Given the description of an element on the screen output the (x, y) to click on. 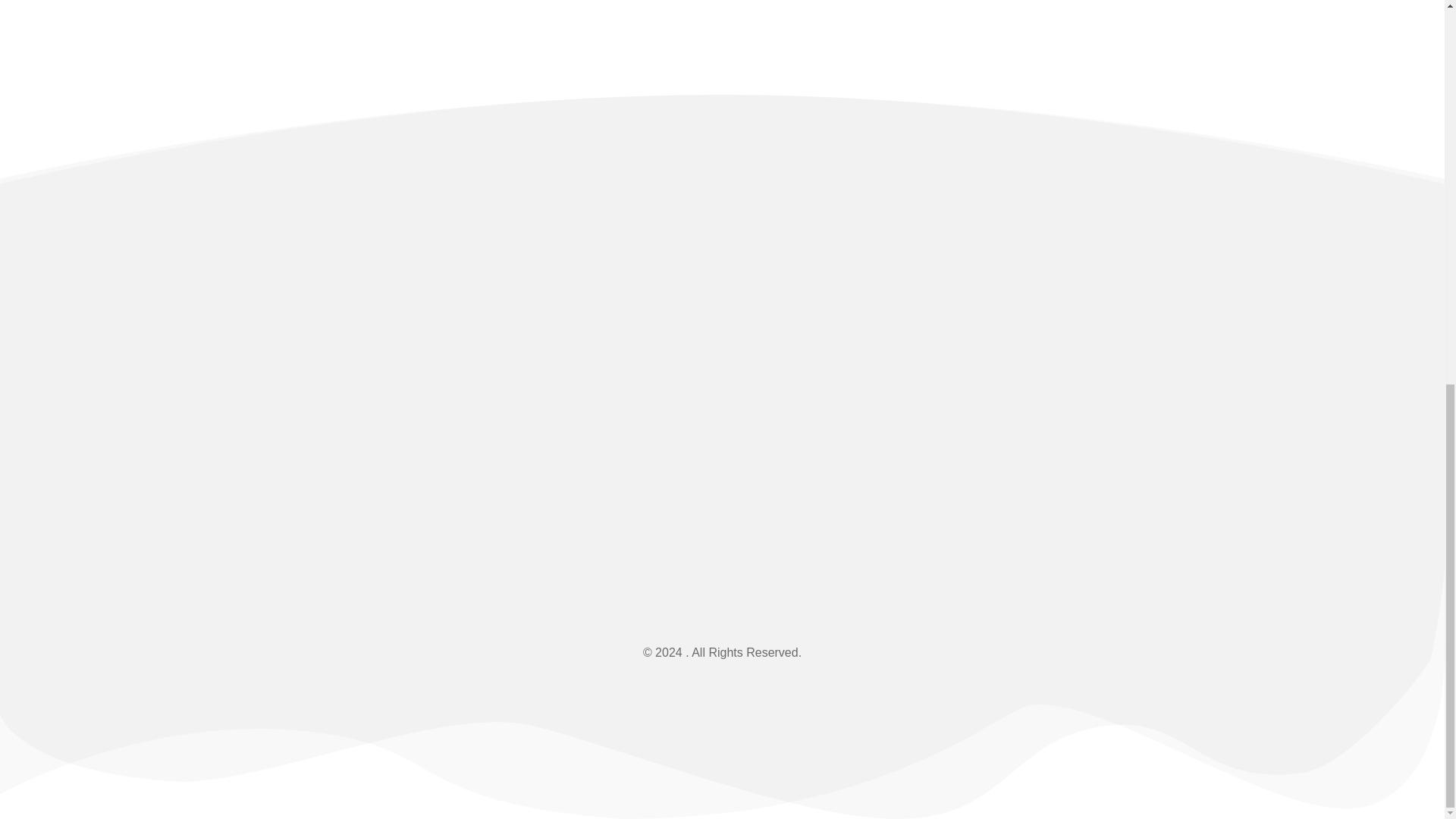
SUBMIT (1269, 535)
